Given the description of an element on the screen output the (x, y) to click on. 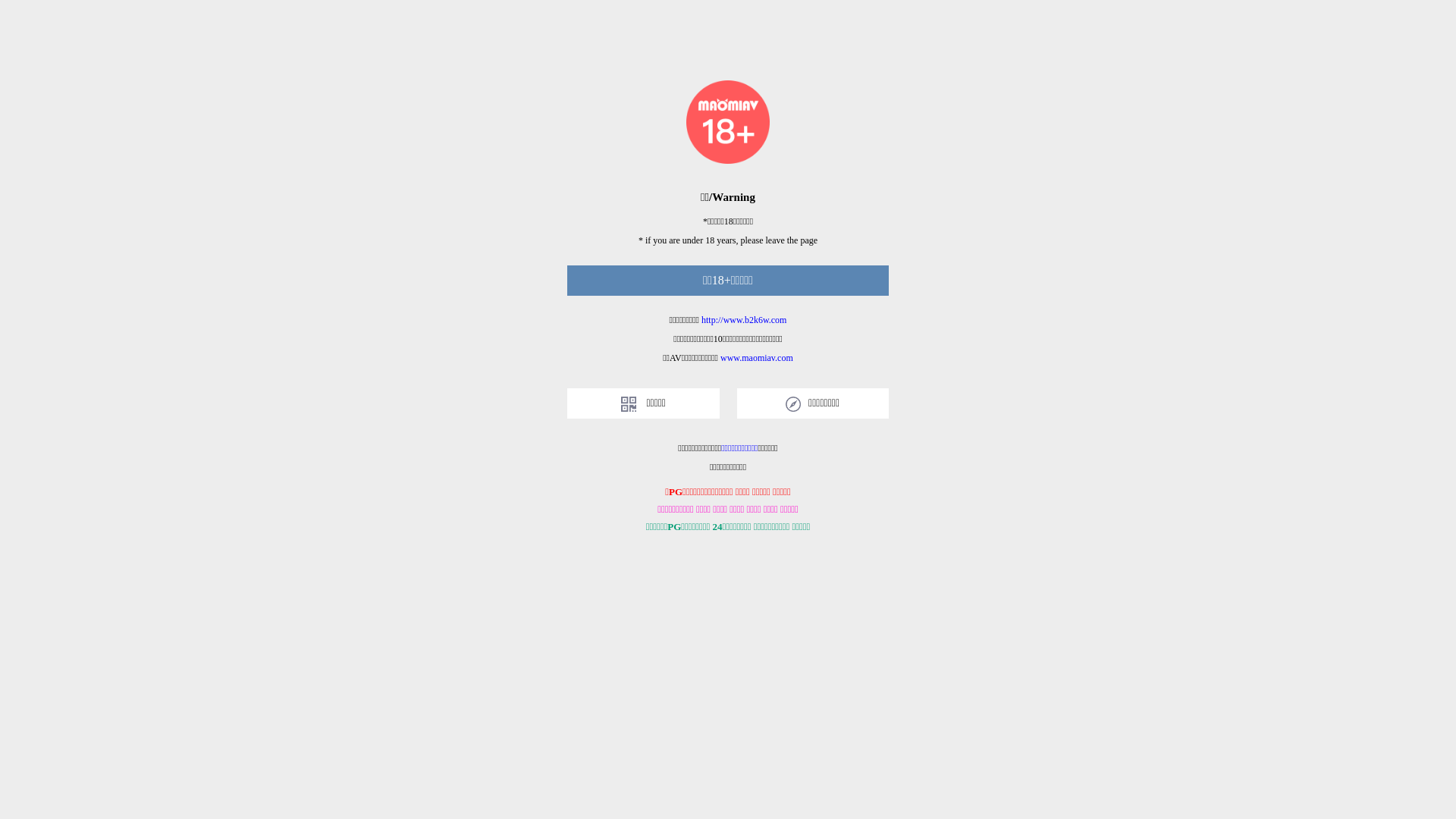
www.maomiav.com Element type: text (756, 357)
http://www.b2k6w.com Element type: text (743, 319)
